Given the description of an element on the screen output the (x, y) to click on. 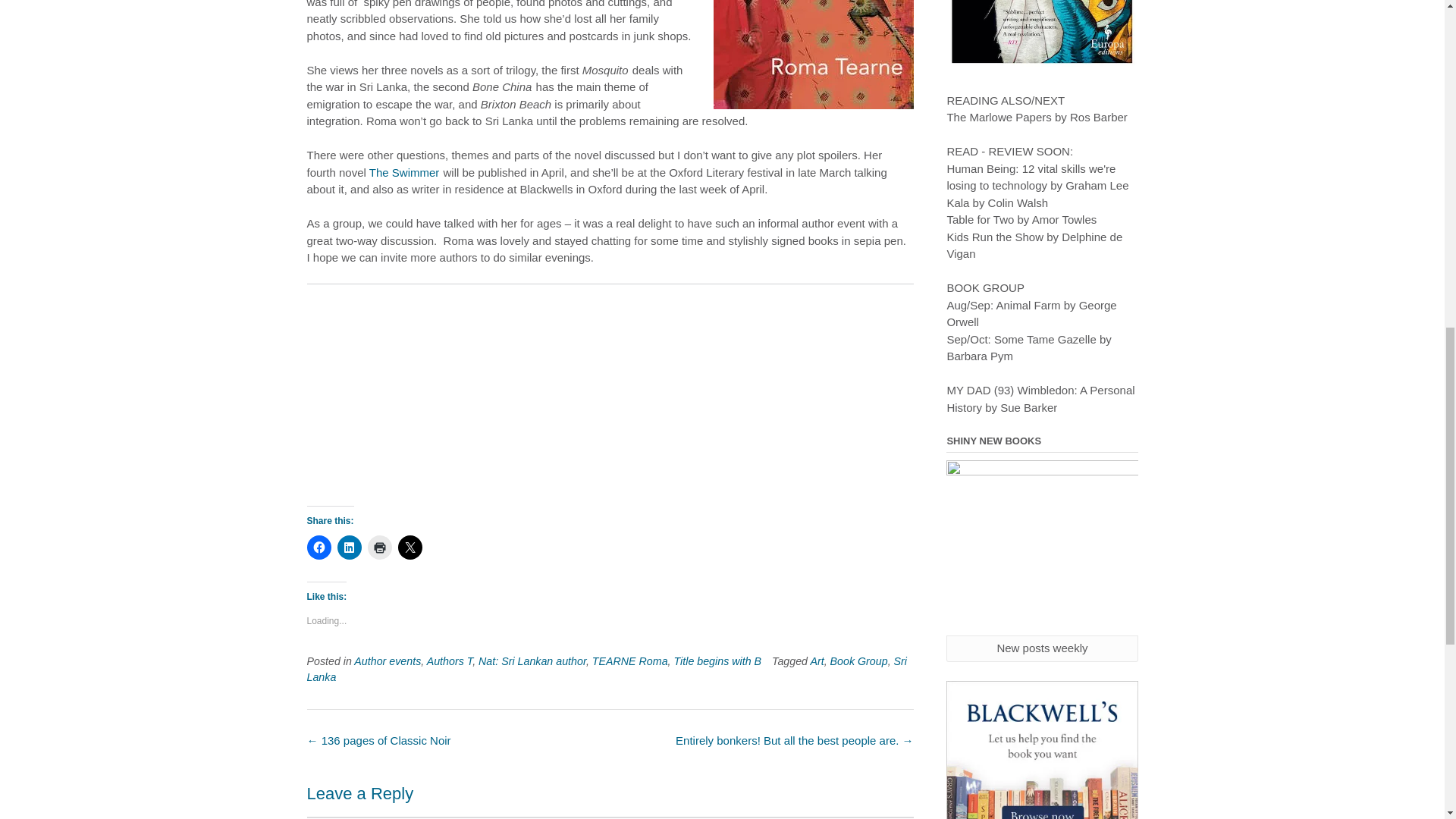
Author events (386, 661)
Nat: Sri Lankan author (532, 661)
Art (816, 661)
Click to share on X (409, 547)
Authors T (448, 661)
The Swimmer (404, 172)
TEARNE Roma (630, 661)
Click to share on LinkedIn (348, 547)
Sri Lanka (605, 669)
Click to print (378, 547)
